Given the description of an element on the screen output the (x, y) to click on. 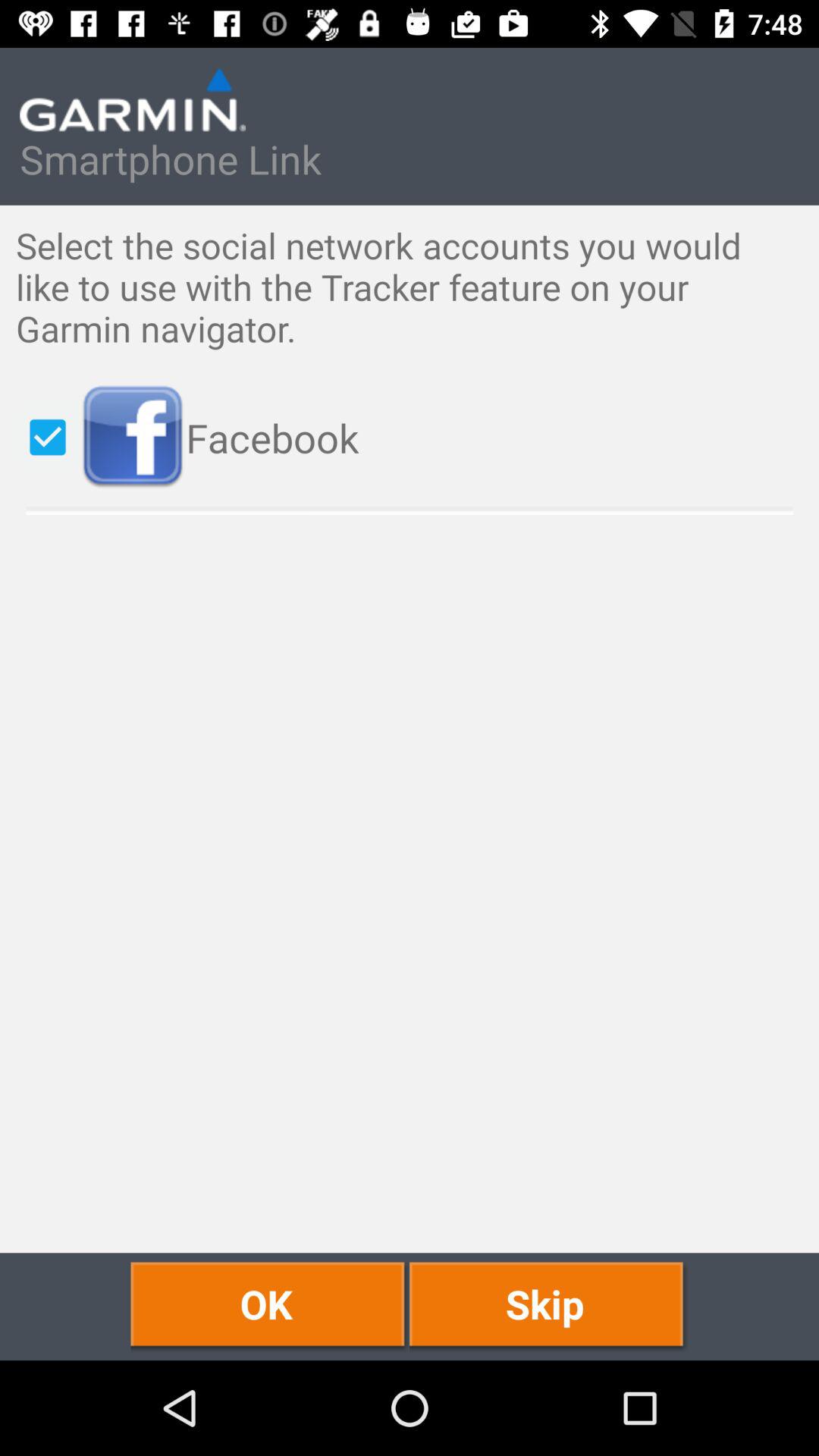
tap the skip (548, 1306)
